Given the description of an element on the screen output the (x, y) to click on. 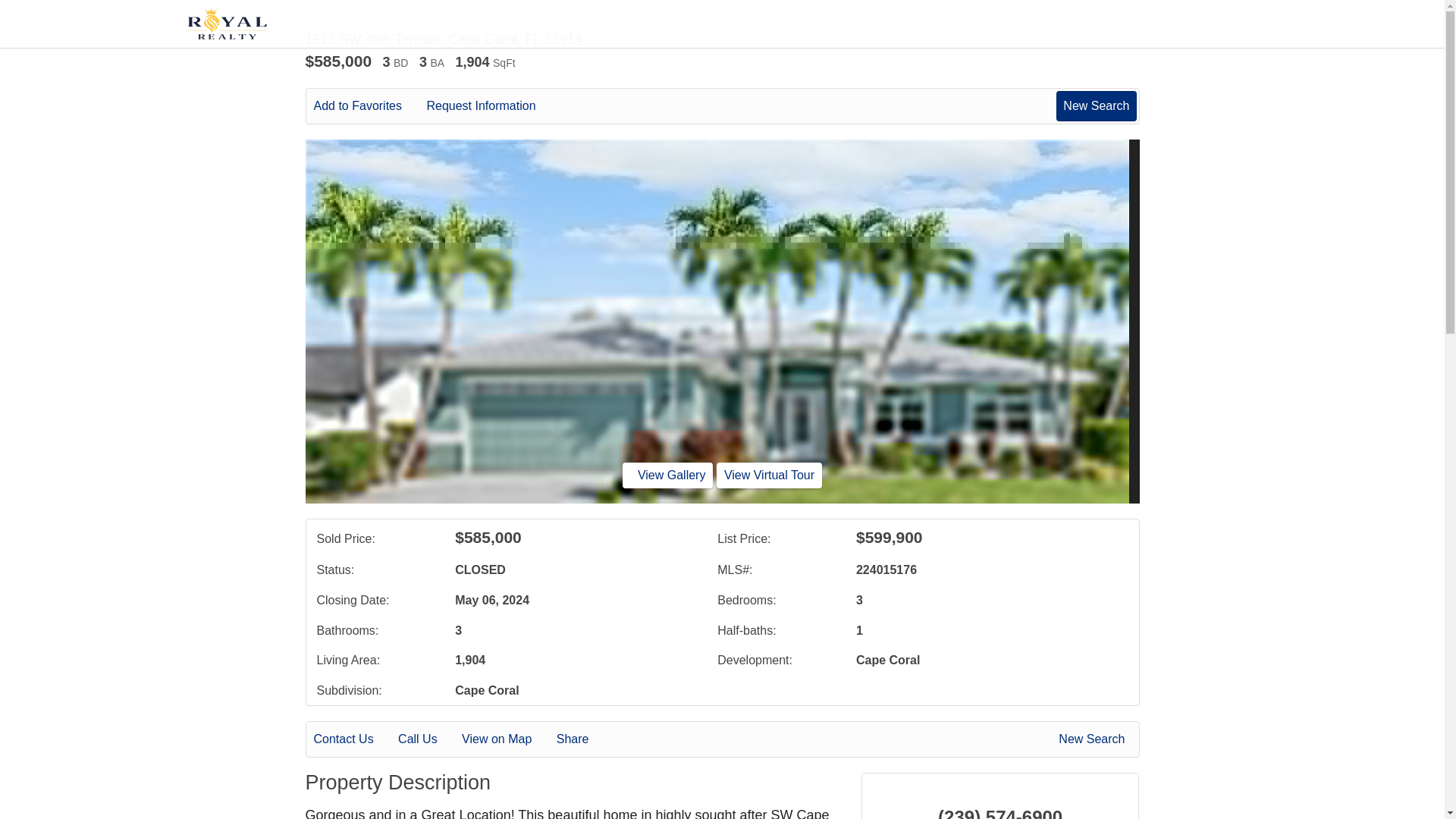
View Virtual Tour (769, 475)
View Virtual Tour (769, 474)
View Gallery (668, 475)
Share (583, 739)
Request Information (491, 106)
New Search (1094, 739)
View Gallery (668, 474)
Contact Us (354, 739)
New Search (1096, 105)
View on Map (507, 739)
Call Us (427, 739)
Add to Favorites (368, 106)
